Given the description of an element on the screen output the (x, y) to click on. 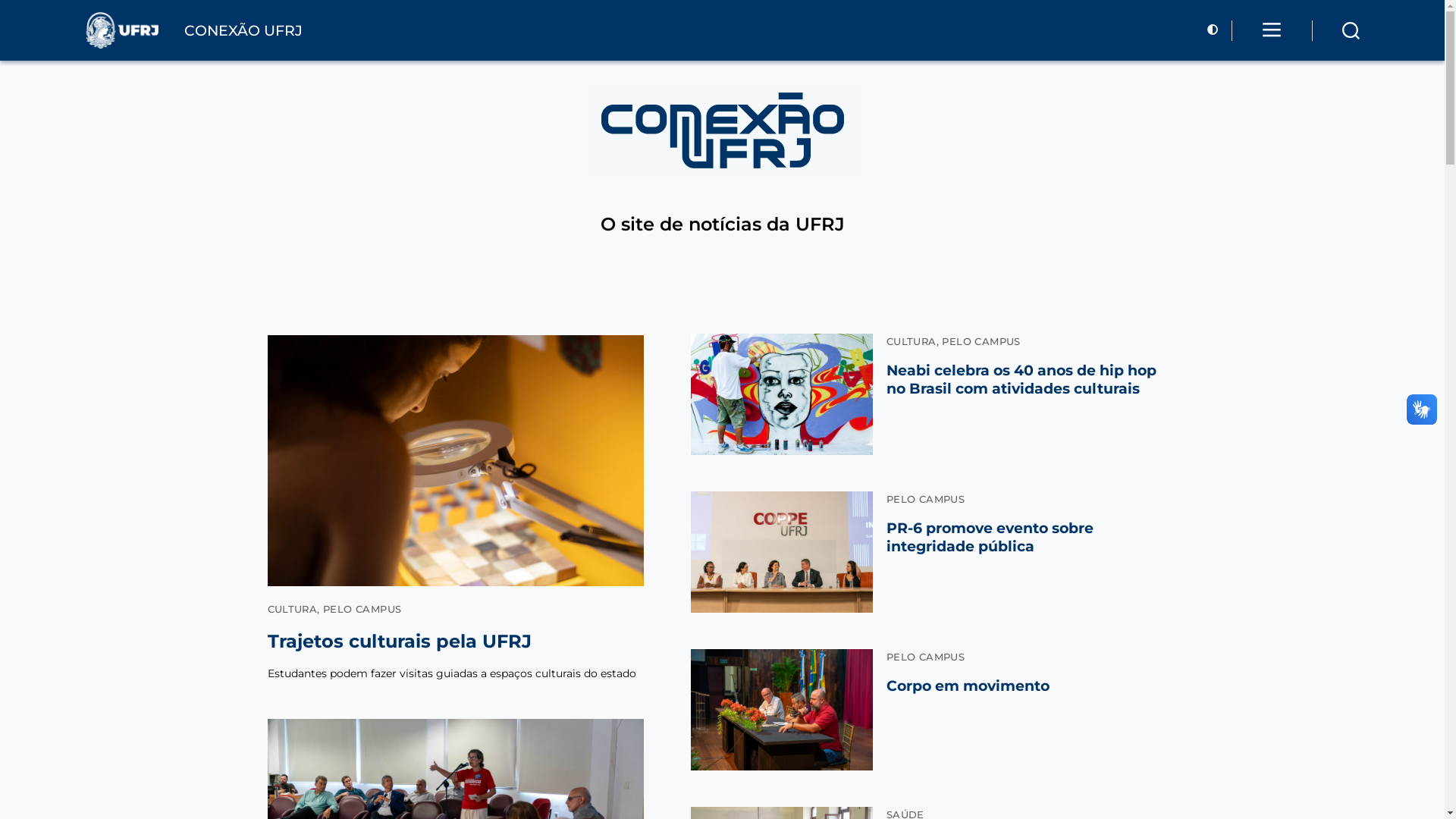
PELO CAMPUS Element type: text (362, 608)
CULTURA Element type: text (291, 608)
PELO CAMPUS Element type: text (980, 341)
Corpo em movimento Element type: text (967, 686)
PELO CAMPUS Element type: text (925, 656)
PELO CAMPUS Element type: text (925, 498)
Trajetos culturais pela UFRJ  Element type: text (401, 641)
CULTURA Element type: text (911, 341)
